Given the description of an element on the screen output the (x, y) to click on. 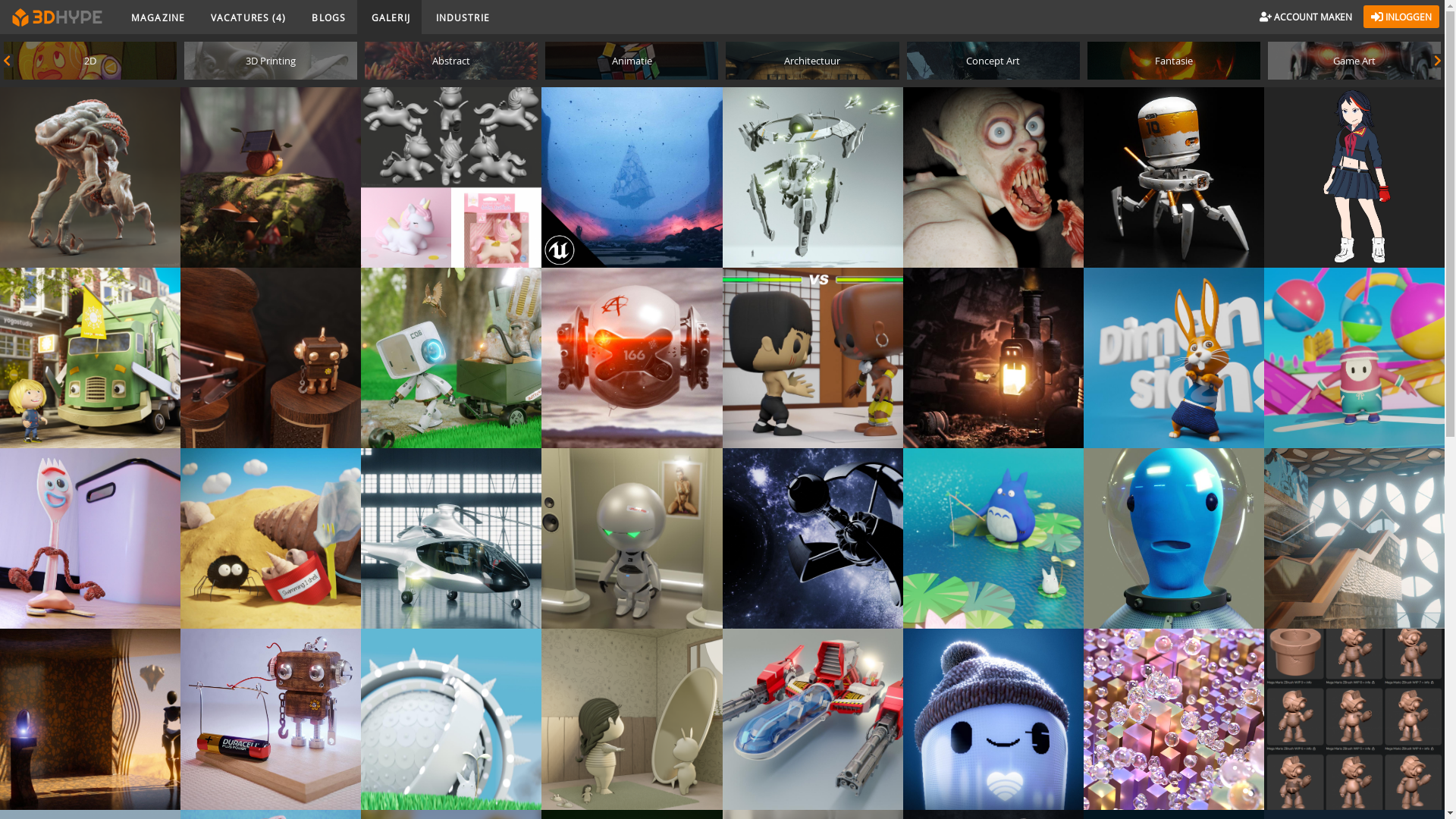
Game Art Element type: text (1354, 60)
Concept Art Element type: text (992, 60)
 ACCOUNT MAKEN Element type: text (1305, 16)
2D Element type: text (90, 60)
 INDUSTRIE Element type: text (461, 17)
 MAGAZINE Element type: text (156, 17)
3D Printing Element type: text (270, 60)
Animatie Element type: text (631, 60)
Abstract Element type: text (451, 60)
 VACATURES (4) Element type: text (246, 17)
Fantasie Element type: text (1173, 60)
 GALERIJ Element type: text (389, 17)
Architectuur Element type: text (812, 60)
 BLOGS Element type: text (327, 17)
